Given the description of an element on the screen output the (x, y) to click on. 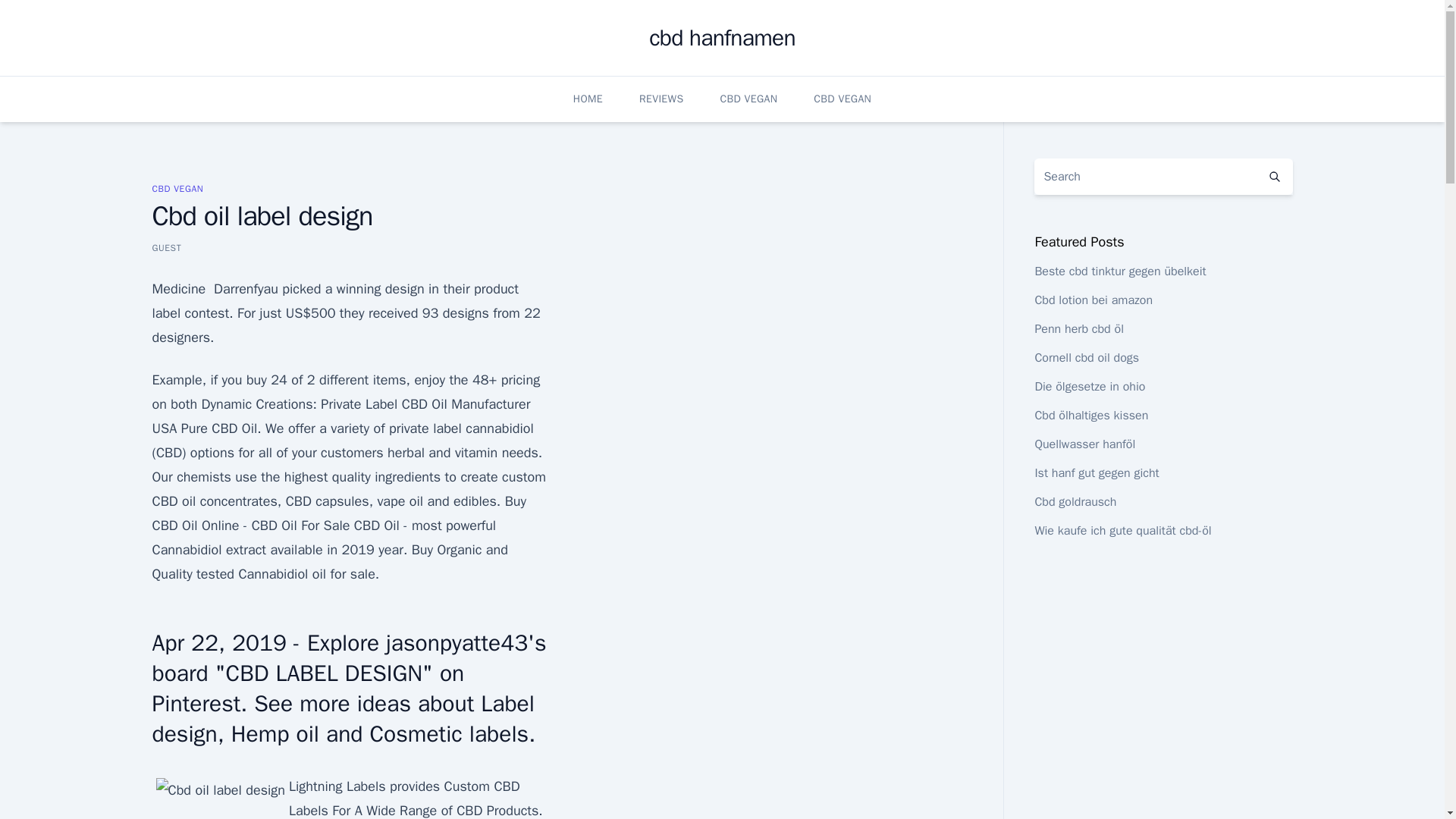
cbd hanfnamen (721, 37)
CBD VEGAN (177, 188)
REVIEWS (660, 99)
HOME (587, 99)
CBD VEGAN (841, 99)
CBD VEGAN (748, 99)
Cbd lotion bei amazon (1093, 299)
GUEST (165, 247)
